Given the description of an element on the screen output the (x, y) to click on. 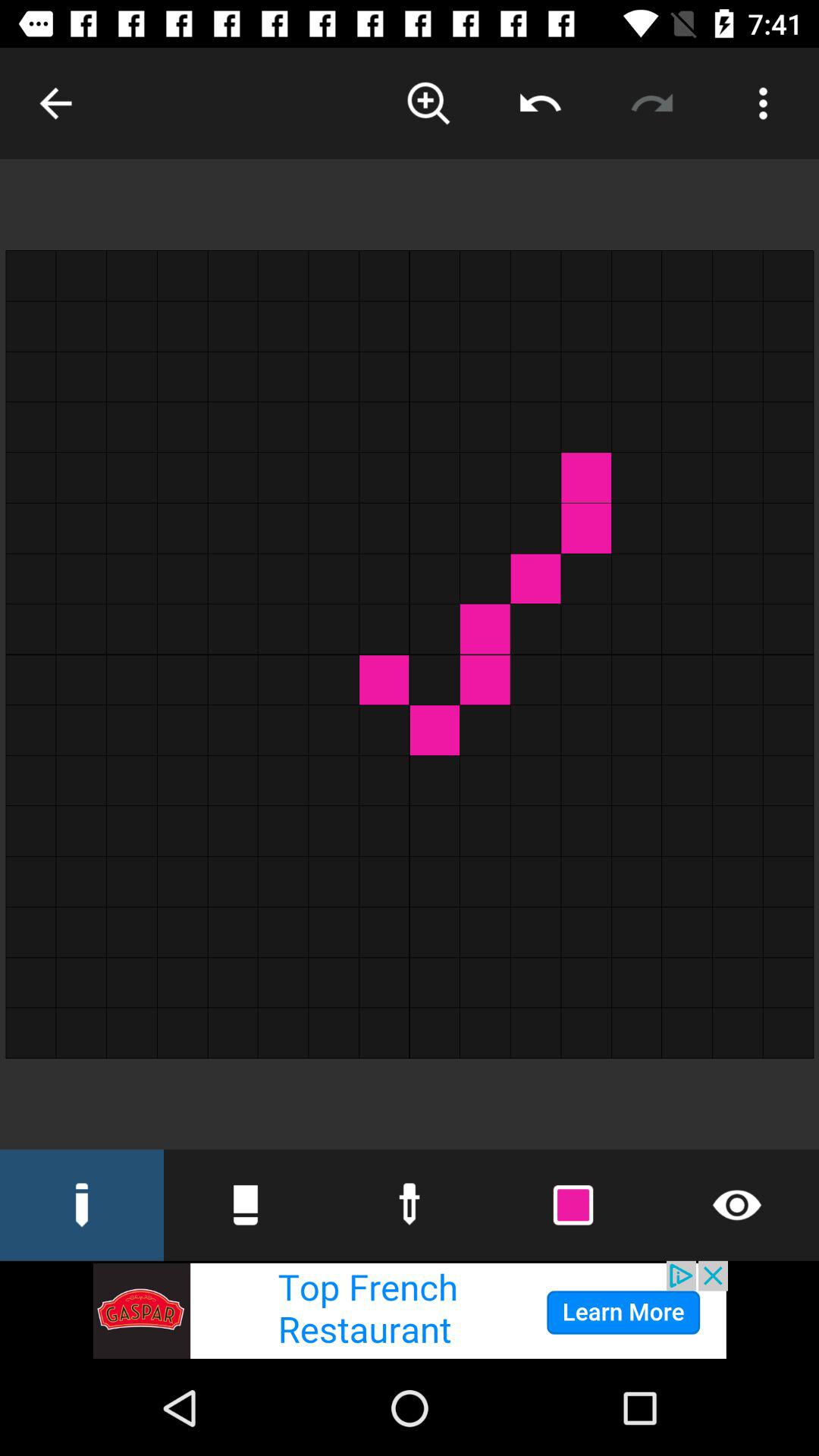
more option (763, 103)
